Given the description of an element on the screen output the (x, y) to click on. 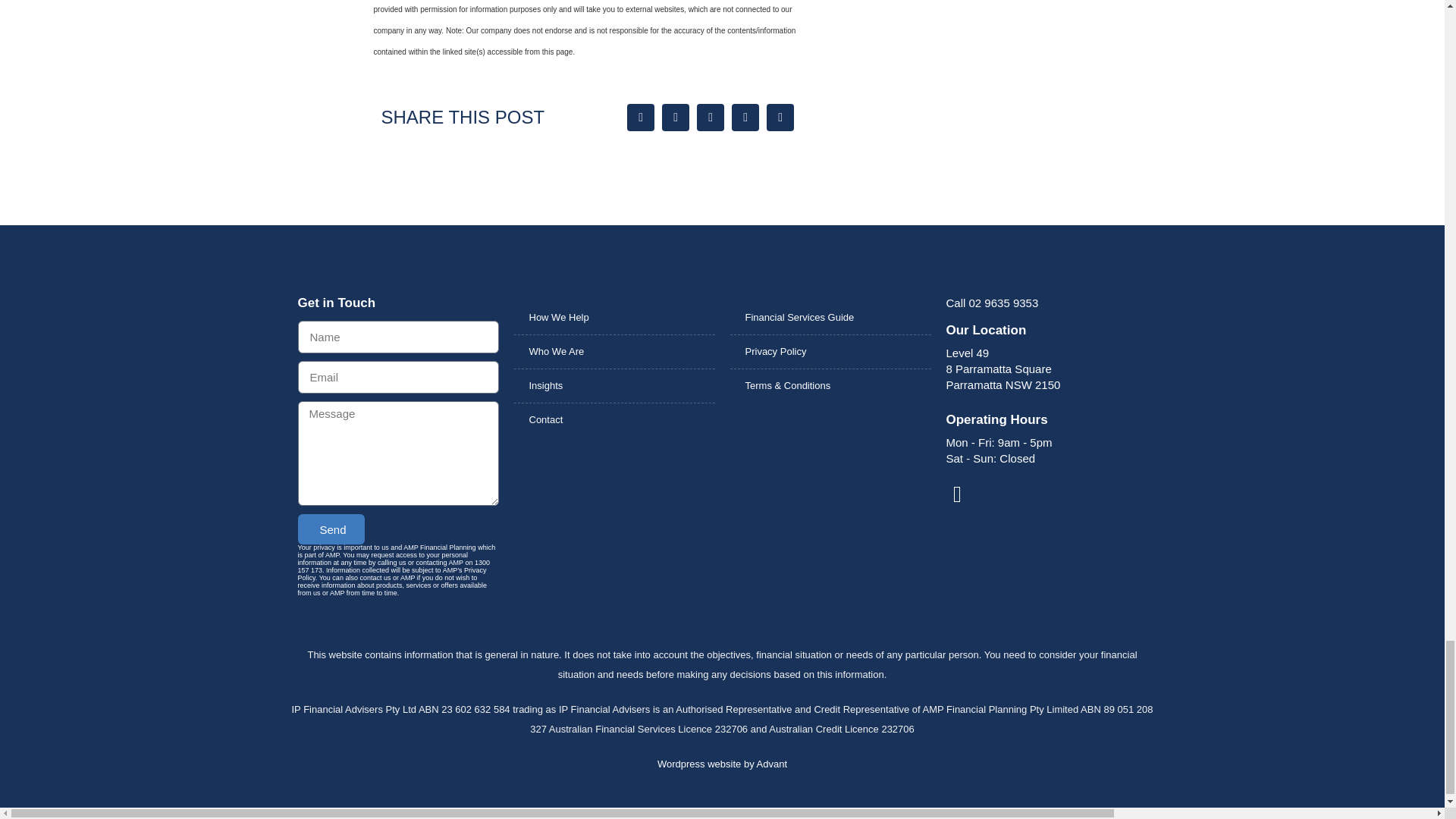
How We Help (613, 317)
Send (330, 529)
Who We Are (613, 351)
